Given the description of an element on the screen output the (x, y) to click on. 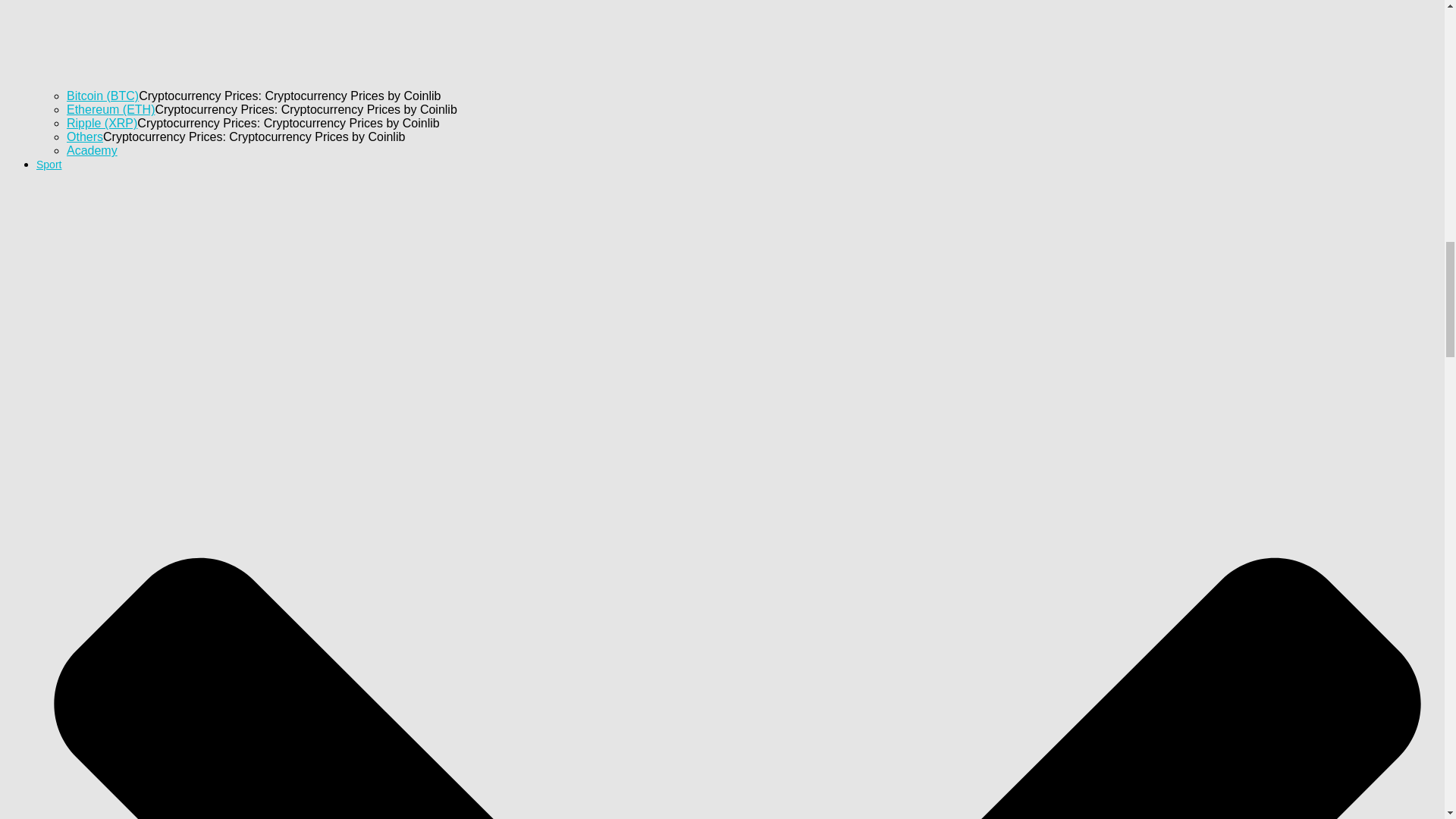
Academy (91, 150)
Others (84, 136)
Others (84, 136)
Academy (91, 150)
